Given the description of an element on the screen output the (x, y) to click on. 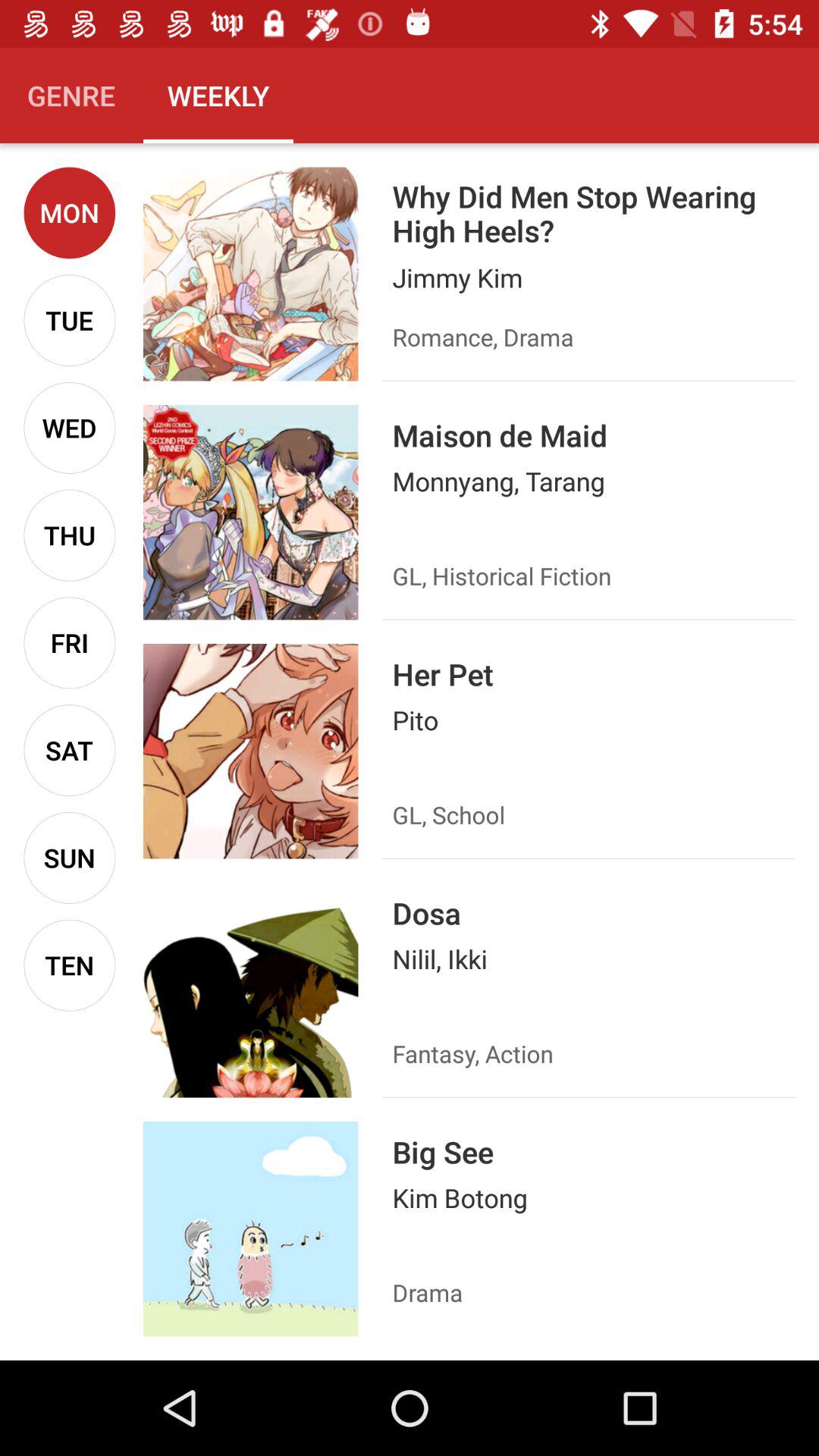
click icon above the fri (69, 535)
